Given the description of an element on the screen output the (x, y) to click on. 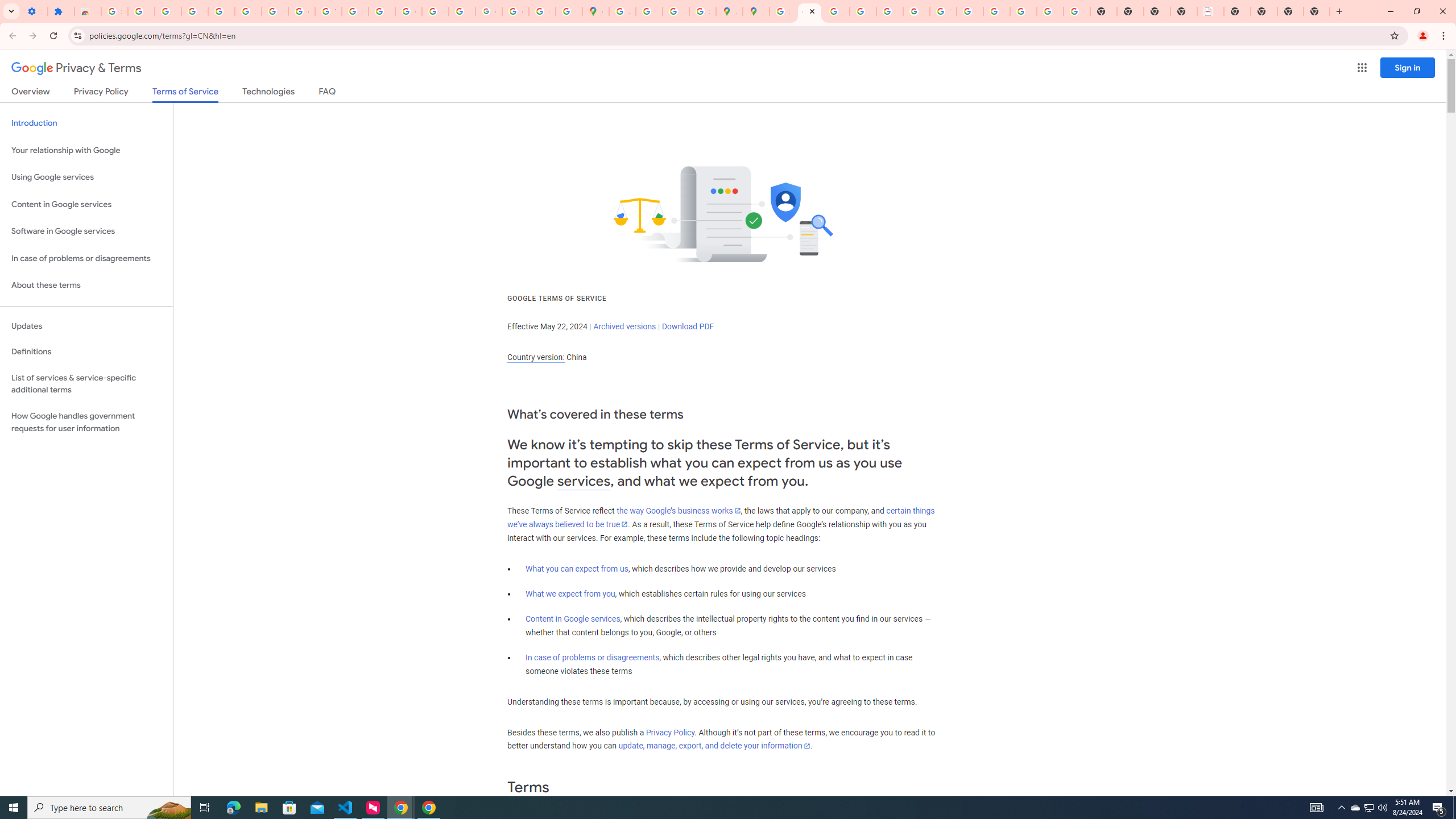
New Tab (1290, 11)
Your relationship with Google (86, 150)
Privacy Help Center - Policies Help (836, 11)
List of services & service-specific additional terms (86, 383)
Content in Google services (572, 618)
Privacy Help Center - Policies Help (862, 11)
Sign in - Google Accounts (114, 11)
Definitions (86, 352)
Reviews: Helix Fruit Jump Arcade Game (87, 11)
Safety in Our Products - Google Safety Center (702, 11)
